Given the description of an element on the screen output the (x, y) to click on. 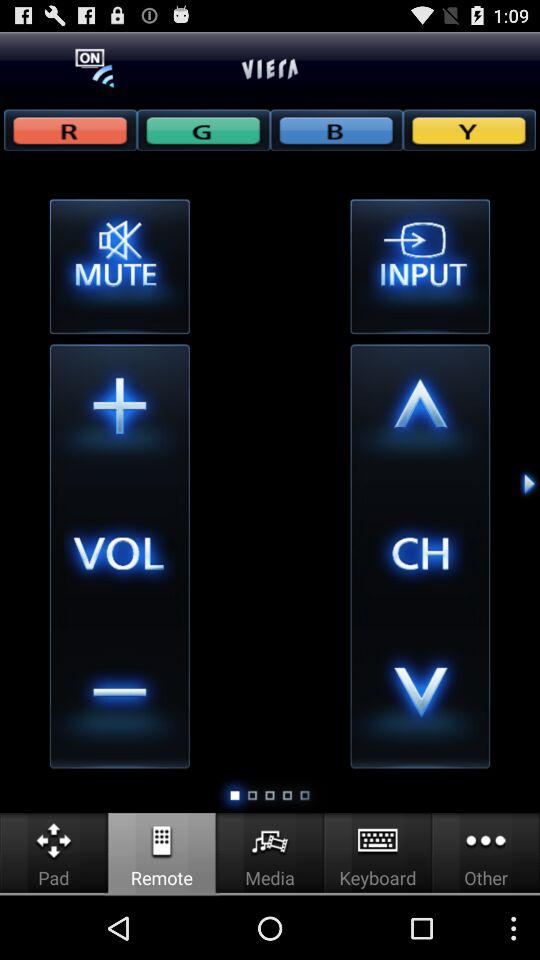
select rgby (469, 129)
